Given the description of an element on the screen output the (x, y) to click on. 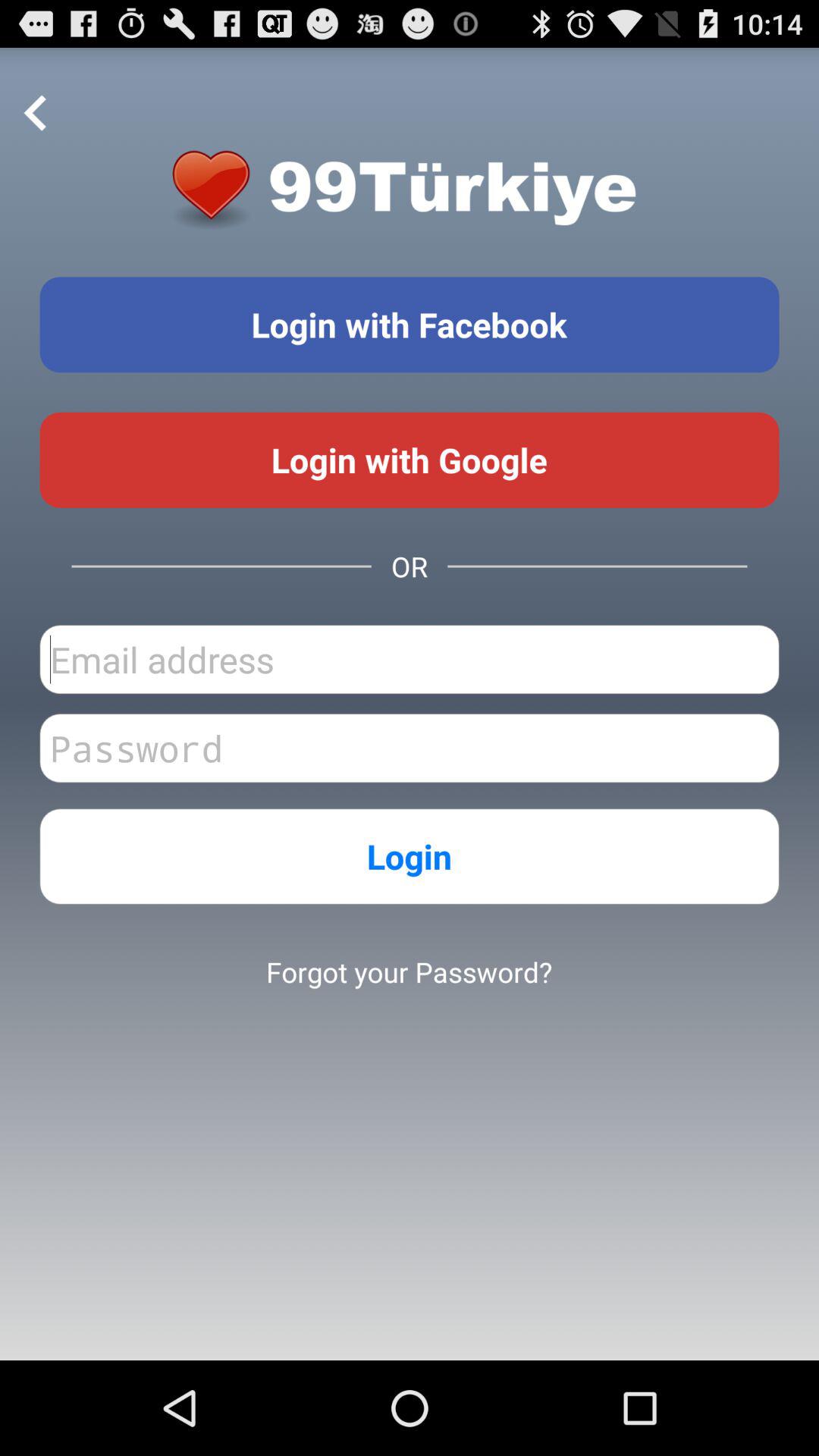
enter e-mail address (409, 659)
